Given the description of an element on the screen output the (x, y) to click on. 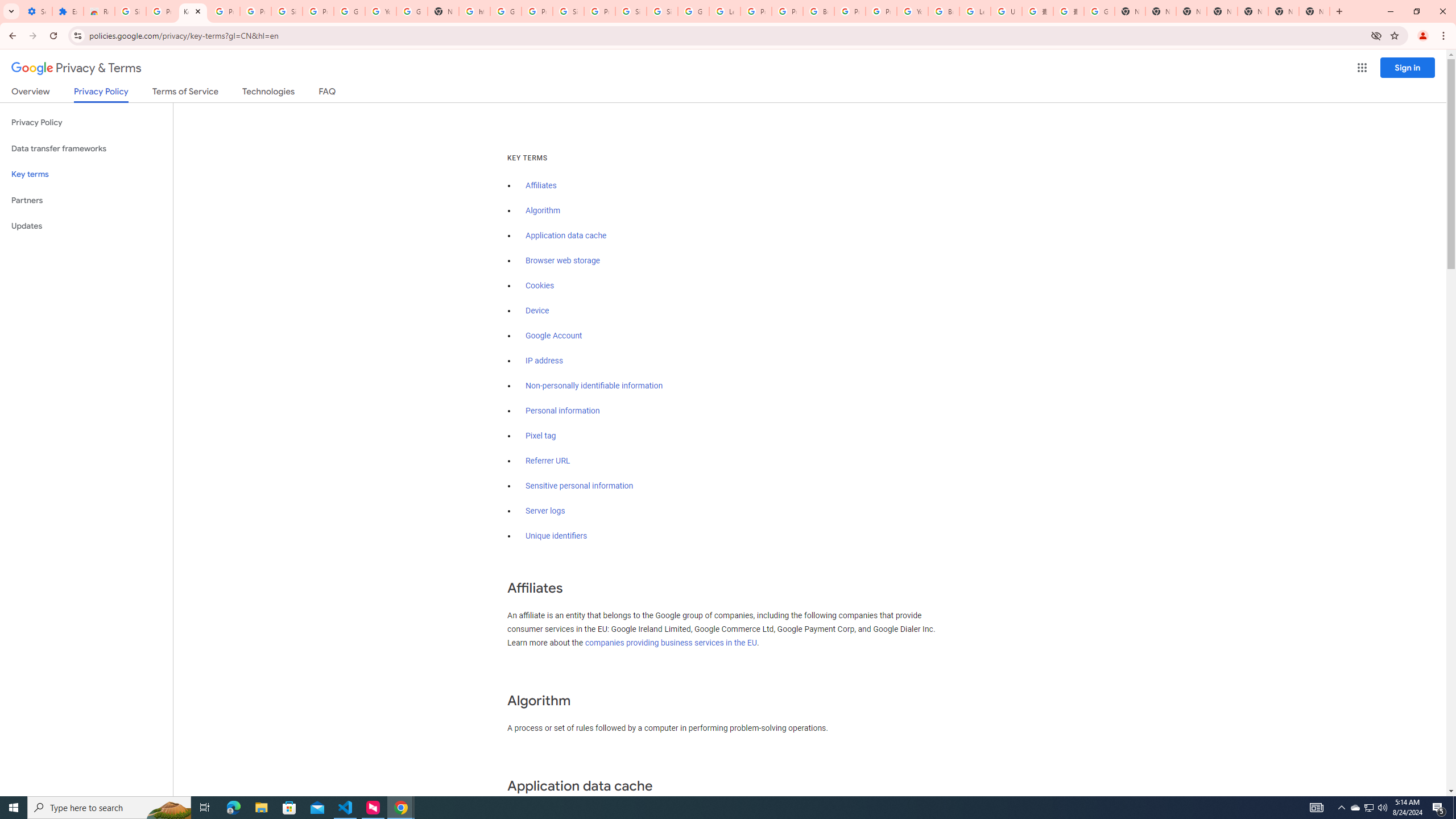
Privacy Help Center - Policies Help (787, 11)
Privacy Help Center - Policies Help (756, 11)
Device (536, 311)
Referrer URL (547, 461)
New Tab (1222, 11)
Sign in - Google Accounts (631, 11)
